Given the description of an element on the screen output the (x, y) to click on. 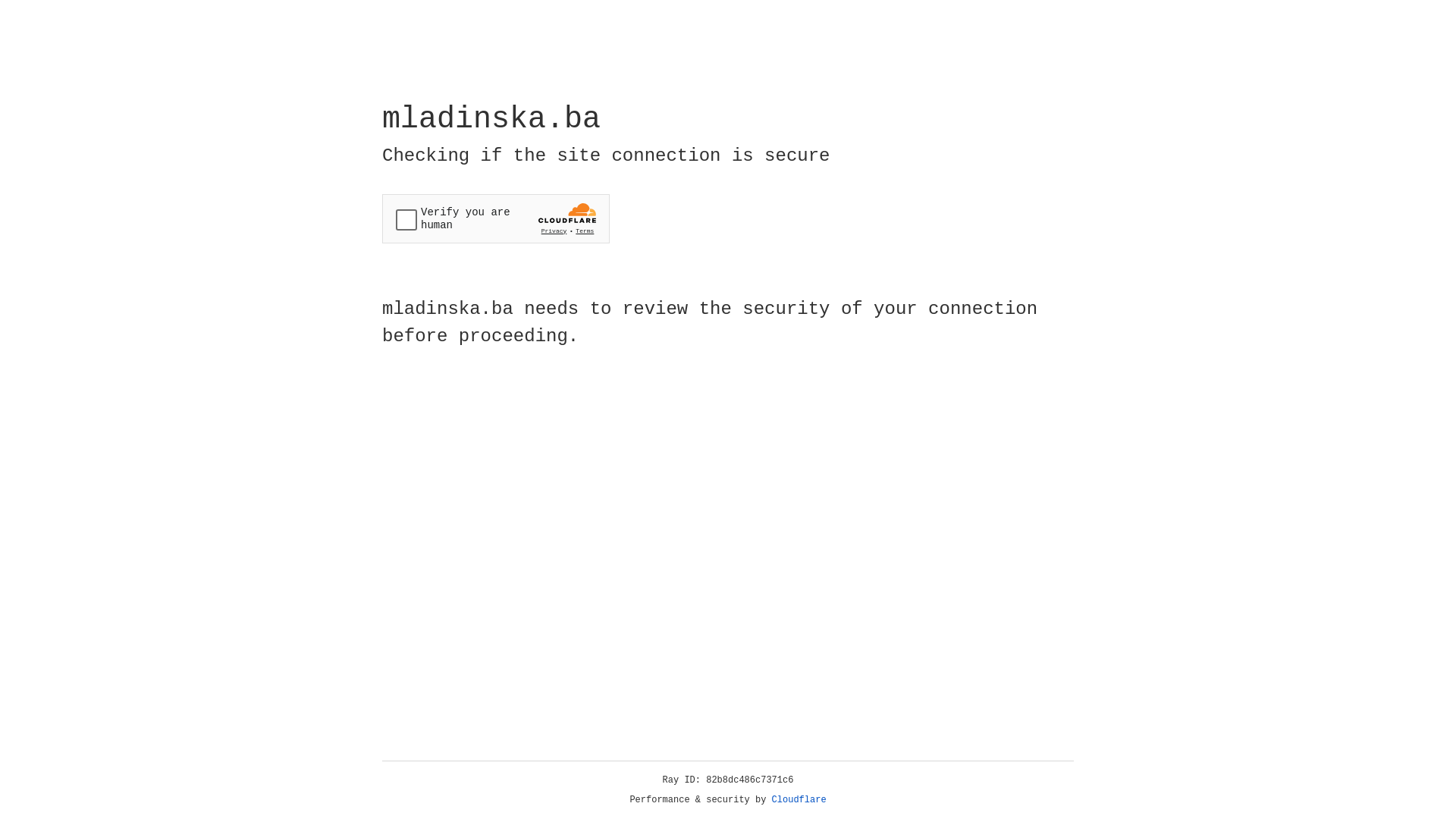
Cloudflare Element type: text (798, 799)
Widget containing a Cloudflare security challenge Element type: hover (495, 218)
